Given the description of an element on the screen output the (x, y) to click on. 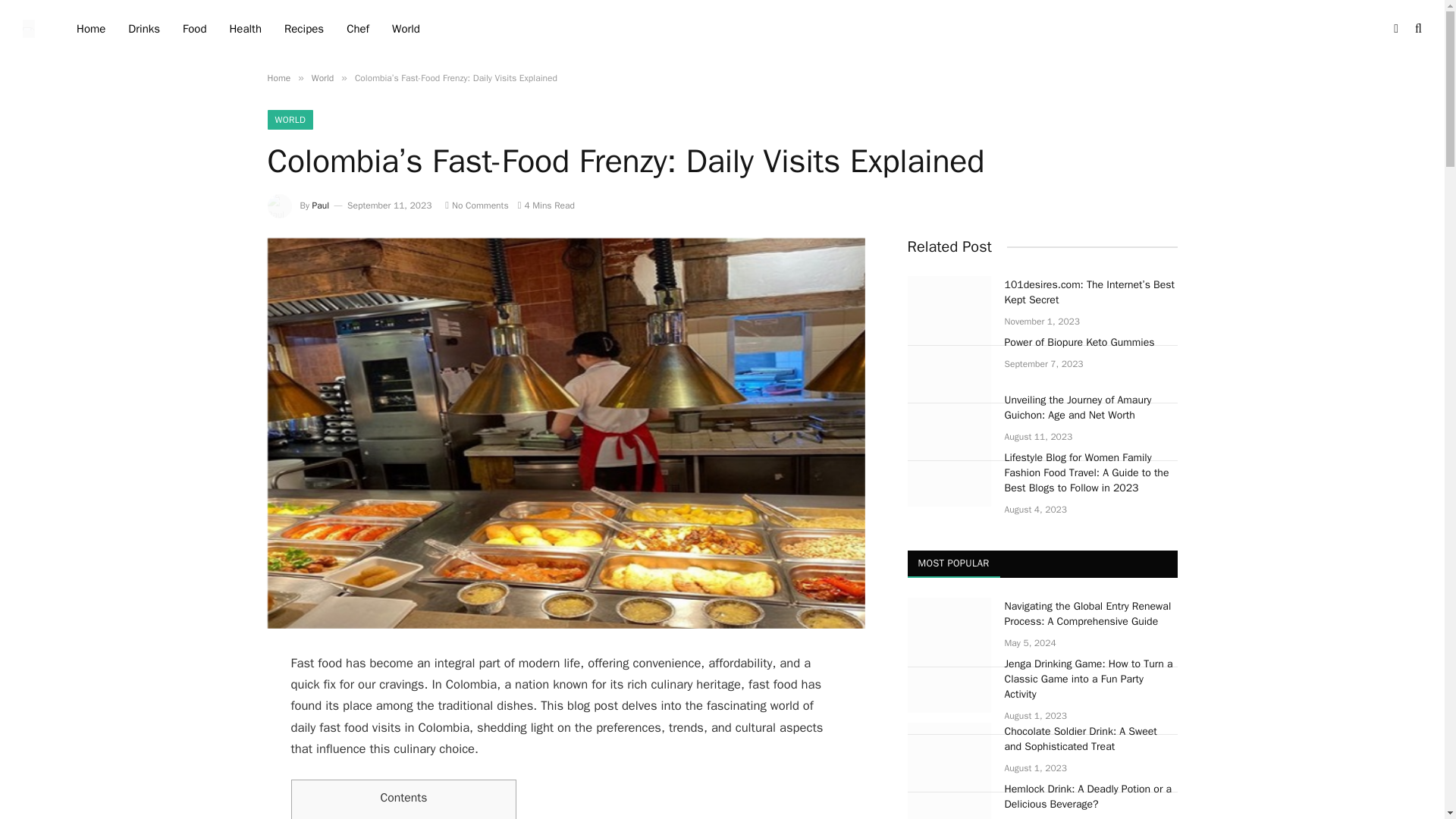
Drinks (143, 28)
Home (277, 78)
Health (244, 28)
Recipes (303, 28)
World (322, 78)
Home (90, 28)
No Comments (476, 205)
Posts by Paul (321, 205)
Paul (321, 205)
WORLD (289, 119)
Switch to Dark Design - easier on eyes. (1396, 28)
